Given the description of an element on the screen output the (x, y) to click on. 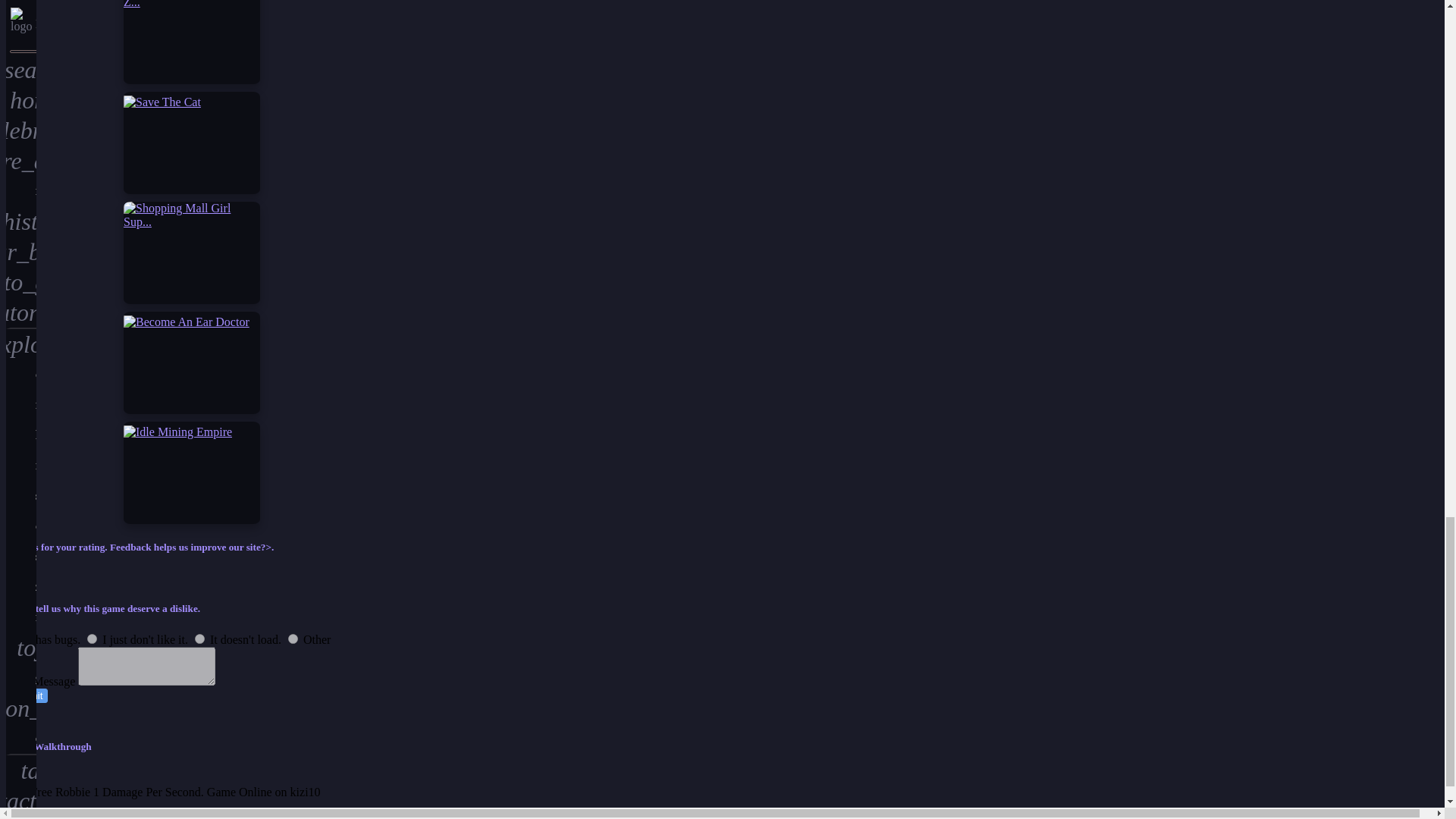
It has bugs. (15, 638)
It doesn't load. (200, 638)
I just don't like it. (92, 638)
Other (293, 638)
